Given the description of an element on the screen output the (x, y) to click on. 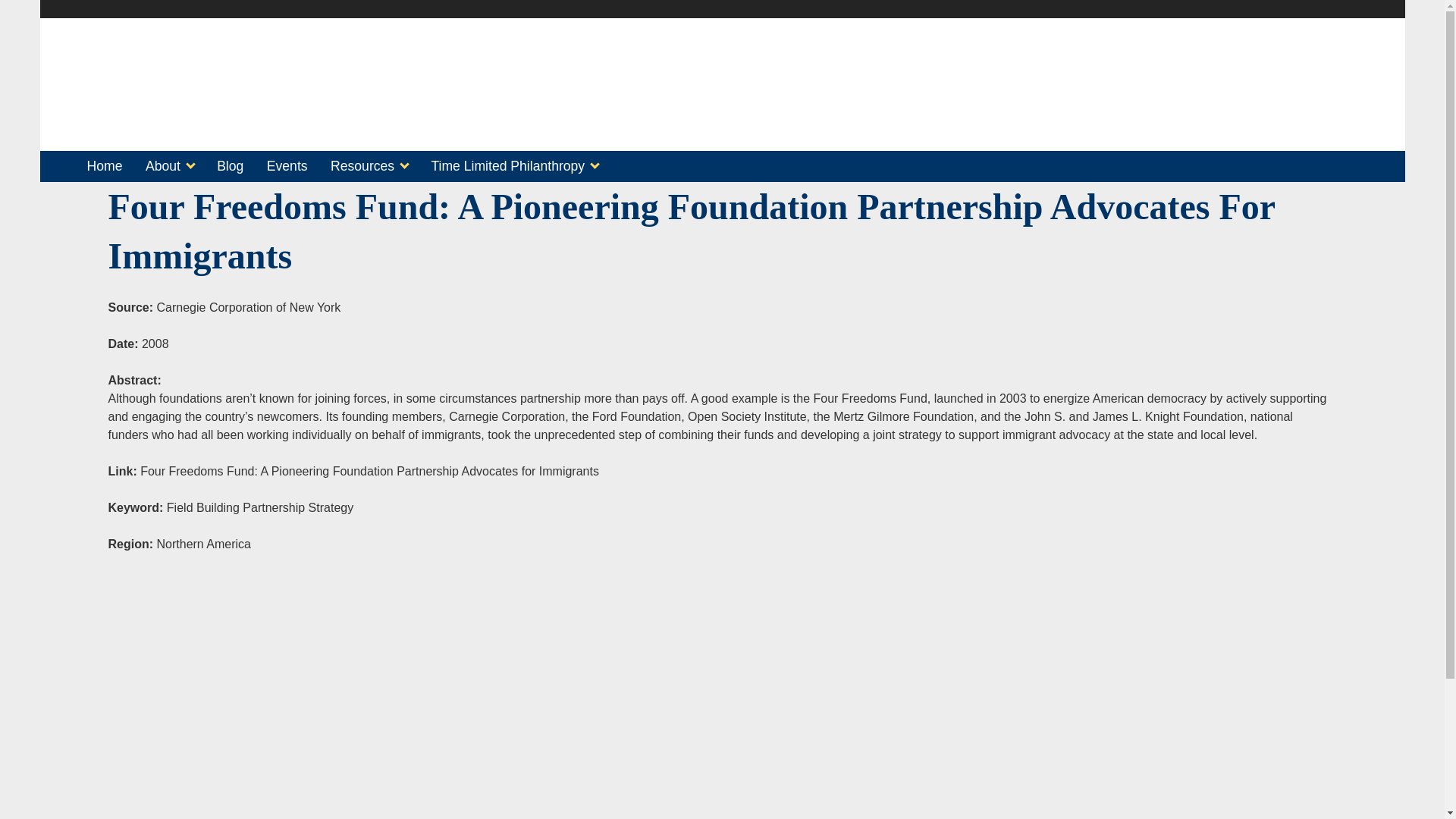
Home (104, 166)
Blog (229, 166)
Events (287, 166)
Resources (368, 166)
Center for Strategic Philanthropy and Civil Society (289, 126)
Time Limited Philanthropy (514, 166)
About (169, 166)
